Given the description of an element on the screen output the (x, y) to click on. 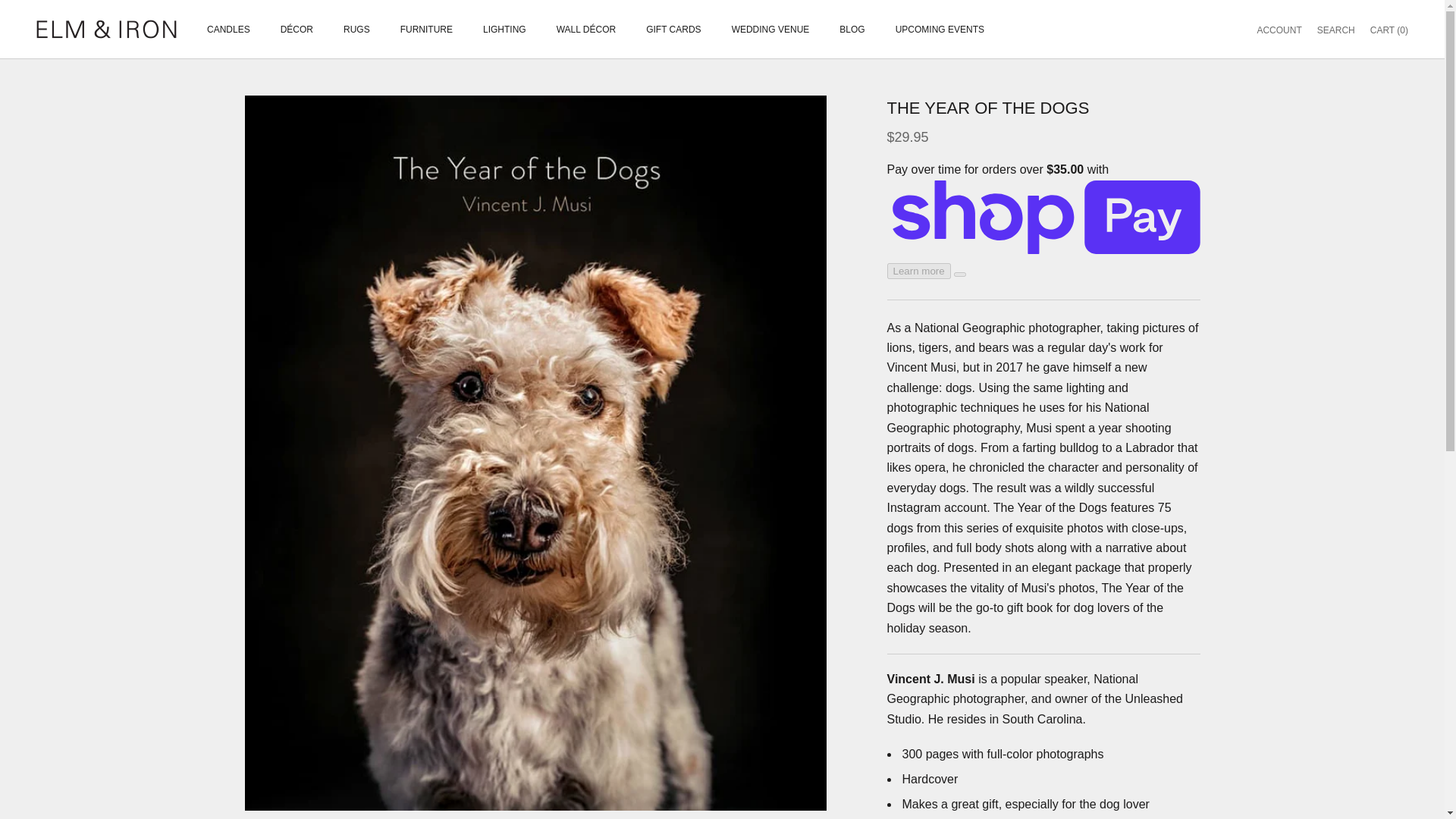
RUGS (356, 29)
